Given the description of an element on the screen output the (x, y) to click on. 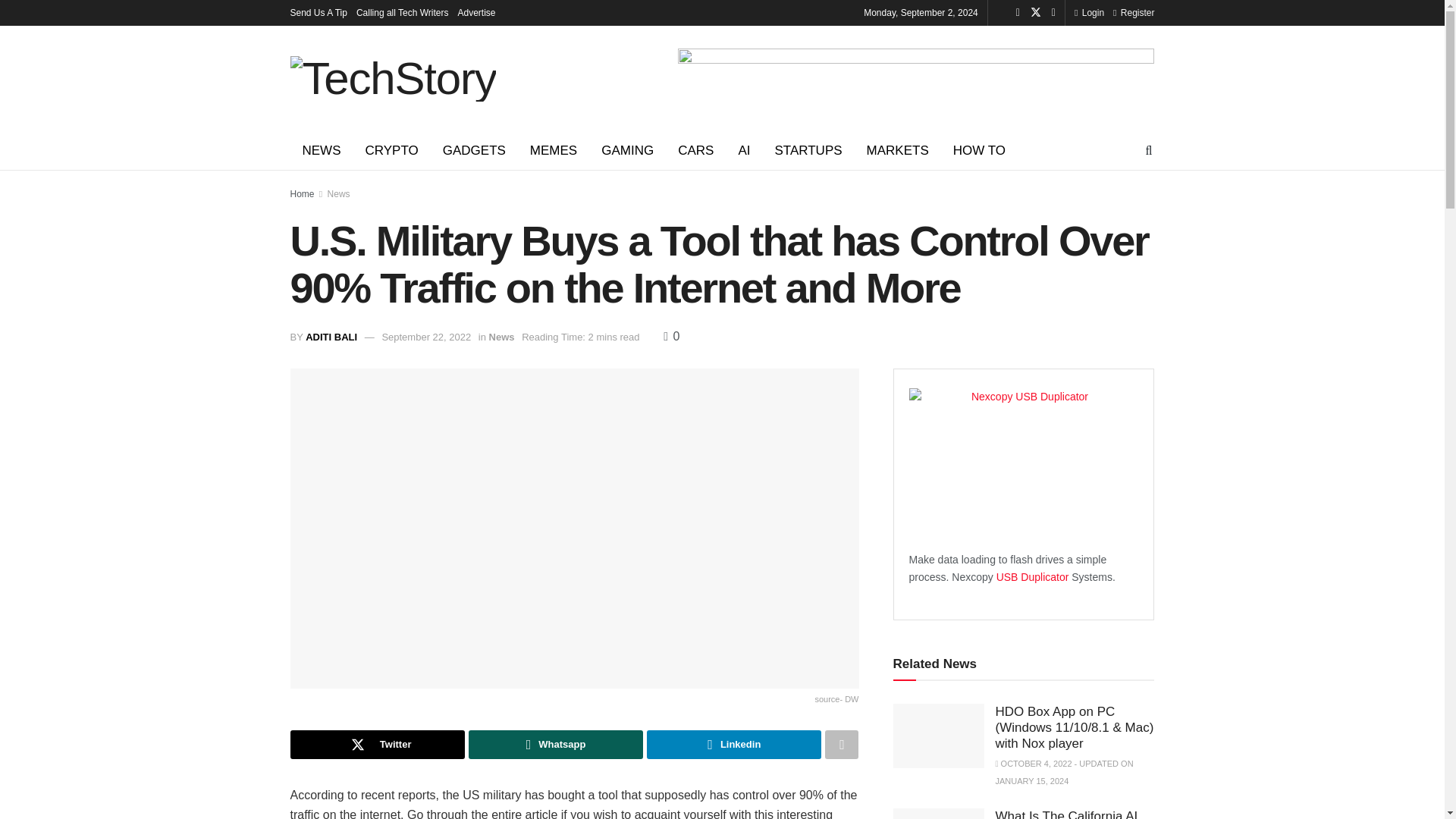
CARS (695, 150)
NEWS (320, 150)
GAMING (627, 150)
Advertise (477, 12)
USB duplicator (1033, 576)
STARTUPS (807, 150)
Login (1088, 12)
Register (1133, 12)
HOW TO (978, 150)
MEMES (553, 150)
